Given the description of an element on the screen output the (x, y) to click on. 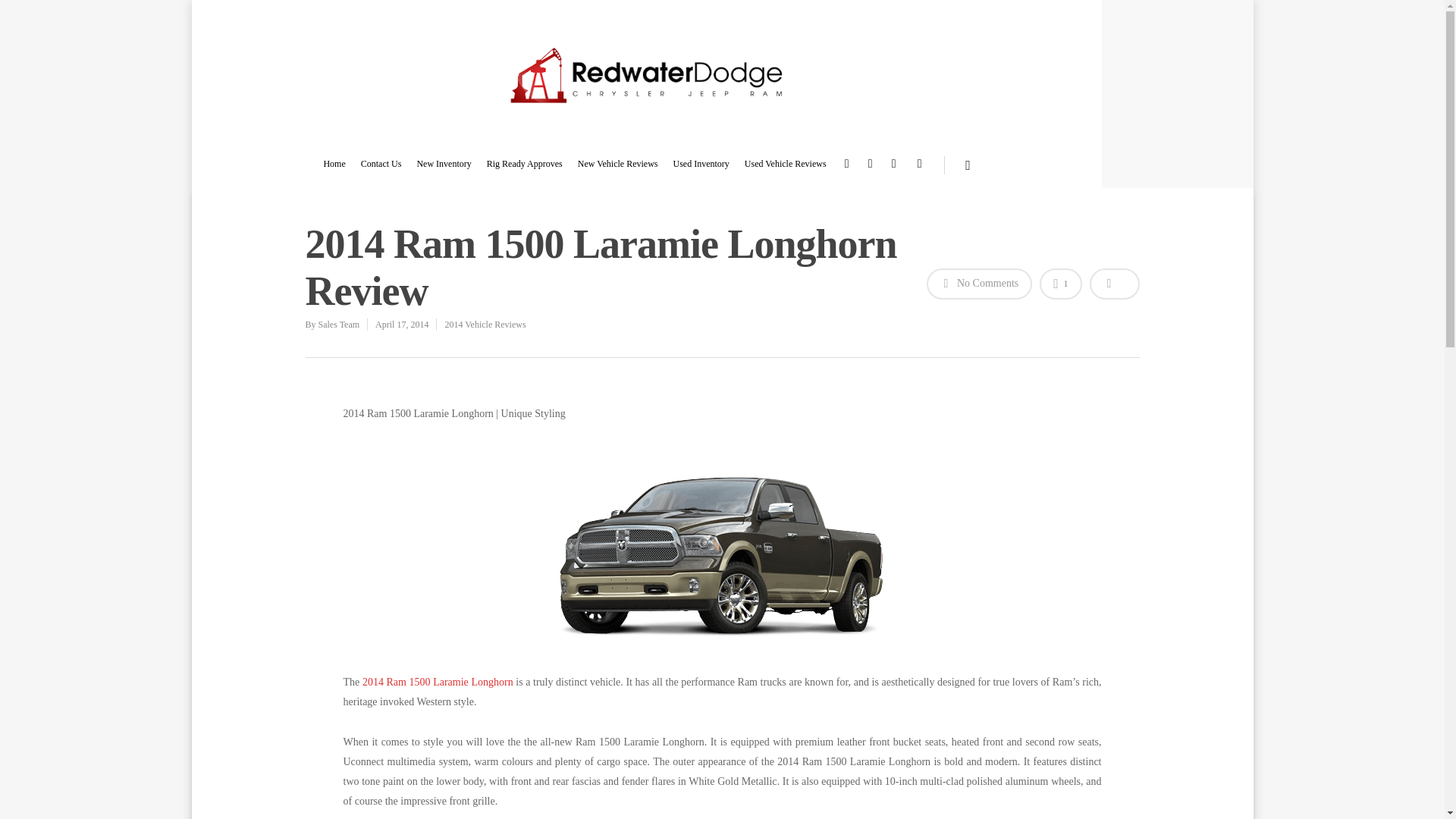
New Inventory (443, 171)
Rig Ready Approves (524, 171)
1 (1060, 283)
Love this (1060, 283)
No Comments (979, 283)
Contact Us (381, 171)
New Vehicle Reviews (618, 171)
2014 Ram 1500 Laramie Longhorn (437, 681)
2014 Vehicle Reviews (484, 324)
Used Vehicle Reviews (785, 171)
2014 Ram 1500 Laramie Longhorn - Full Review (437, 681)
Used Inventory (700, 171)
Sales Team (338, 324)
Posts by Sales Team (338, 324)
